Given the description of an element on the screen output the (x, y) to click on. 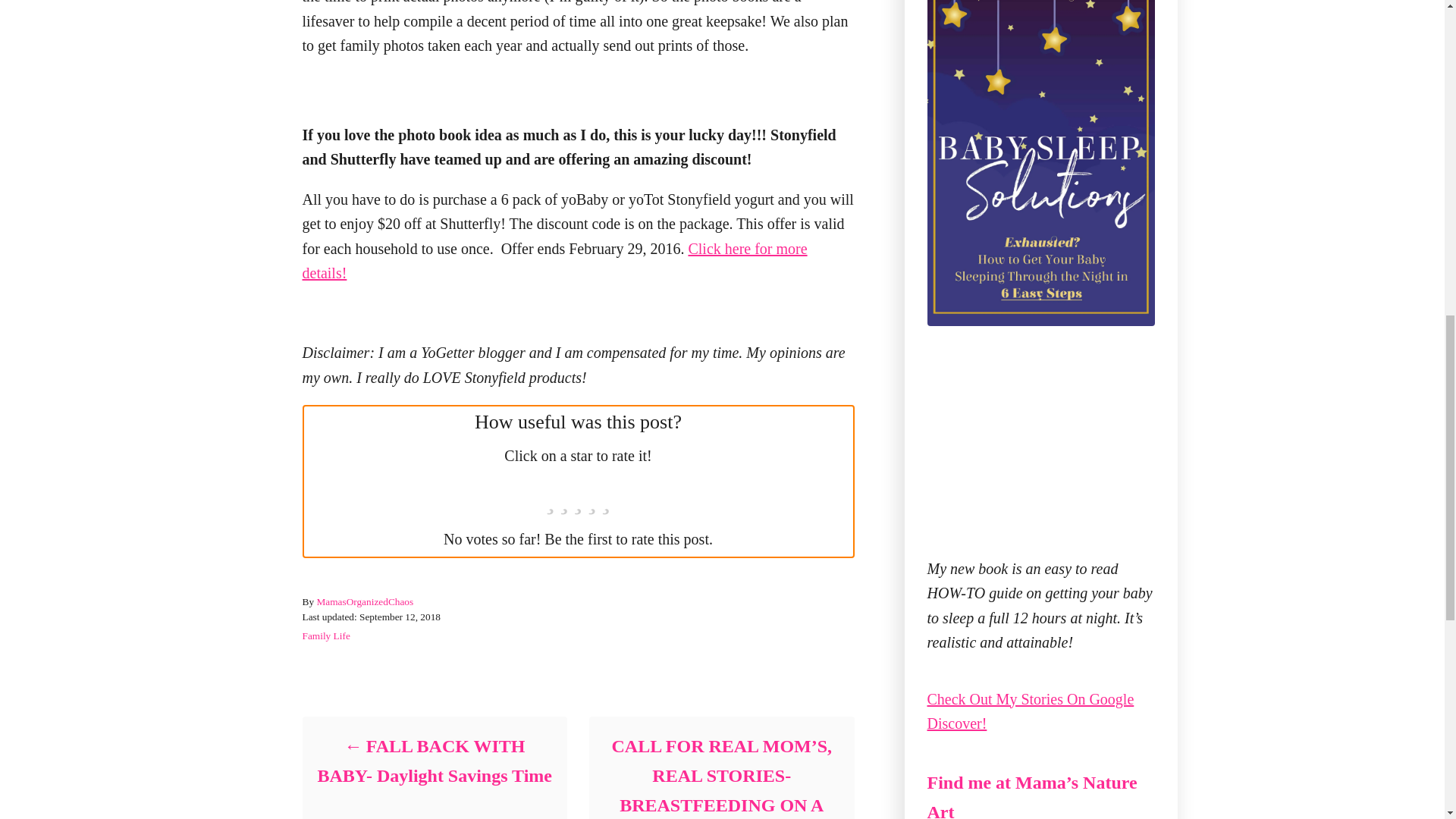
Check Out My Stories On Google Discover! (1030, 711)
MamasOrganizedChaos (364, 601)
Family Life (325, 635)
Click here for more details! (553, 260)
FALL BACK WITH BABY- Daylight Savings Time (434, 761)
